Given the description of an element on the screen output the (x, y) to click on. 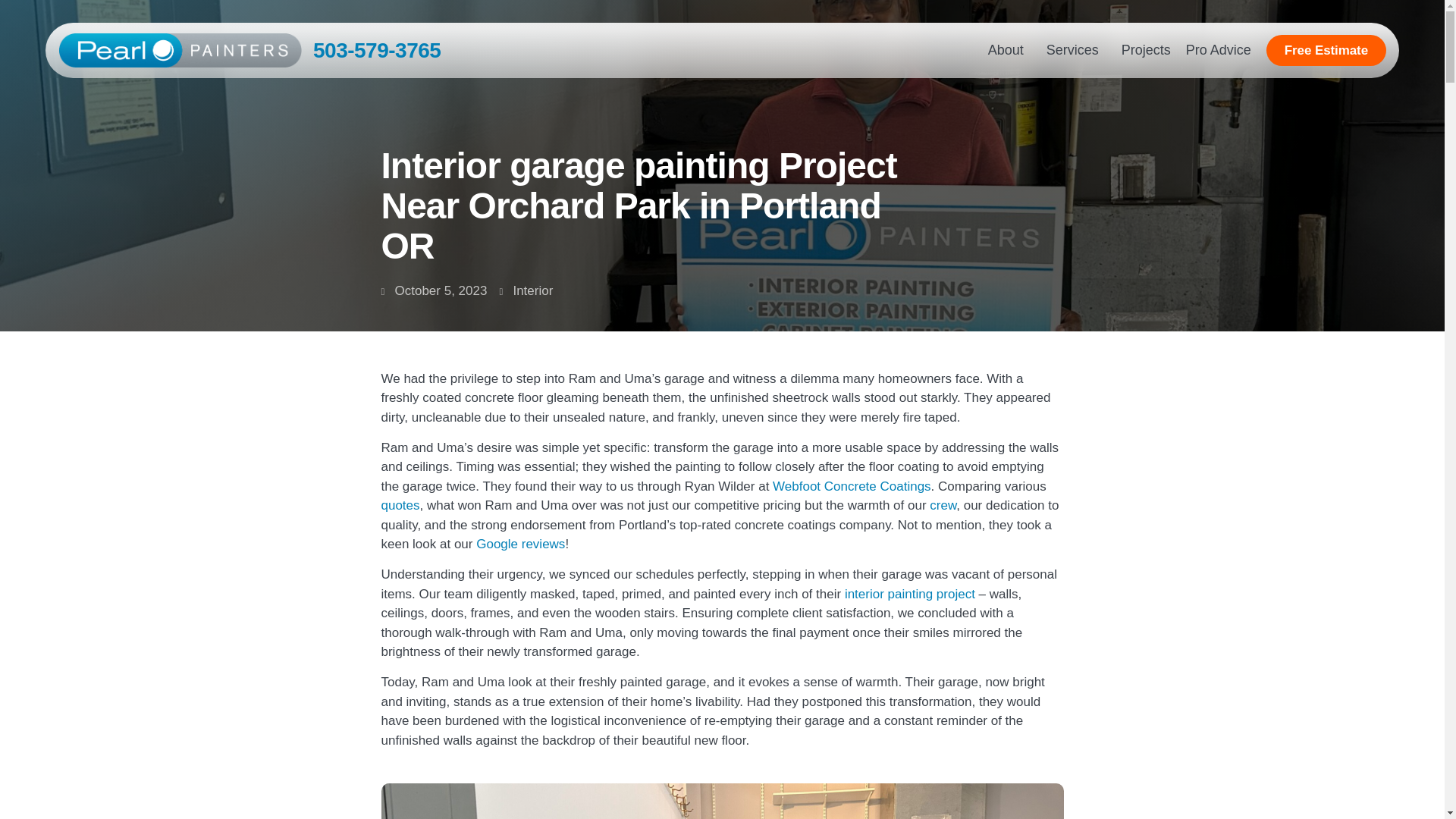
503-579-3765 (377, 49)
Pro Advice (1218, 50)
Services (1076, 50)
About (1009, 50)
Projects (1145, 50)
Free Estimate (1326, 50)
